Given the description of an element on the screen output the (x, y) to click on. 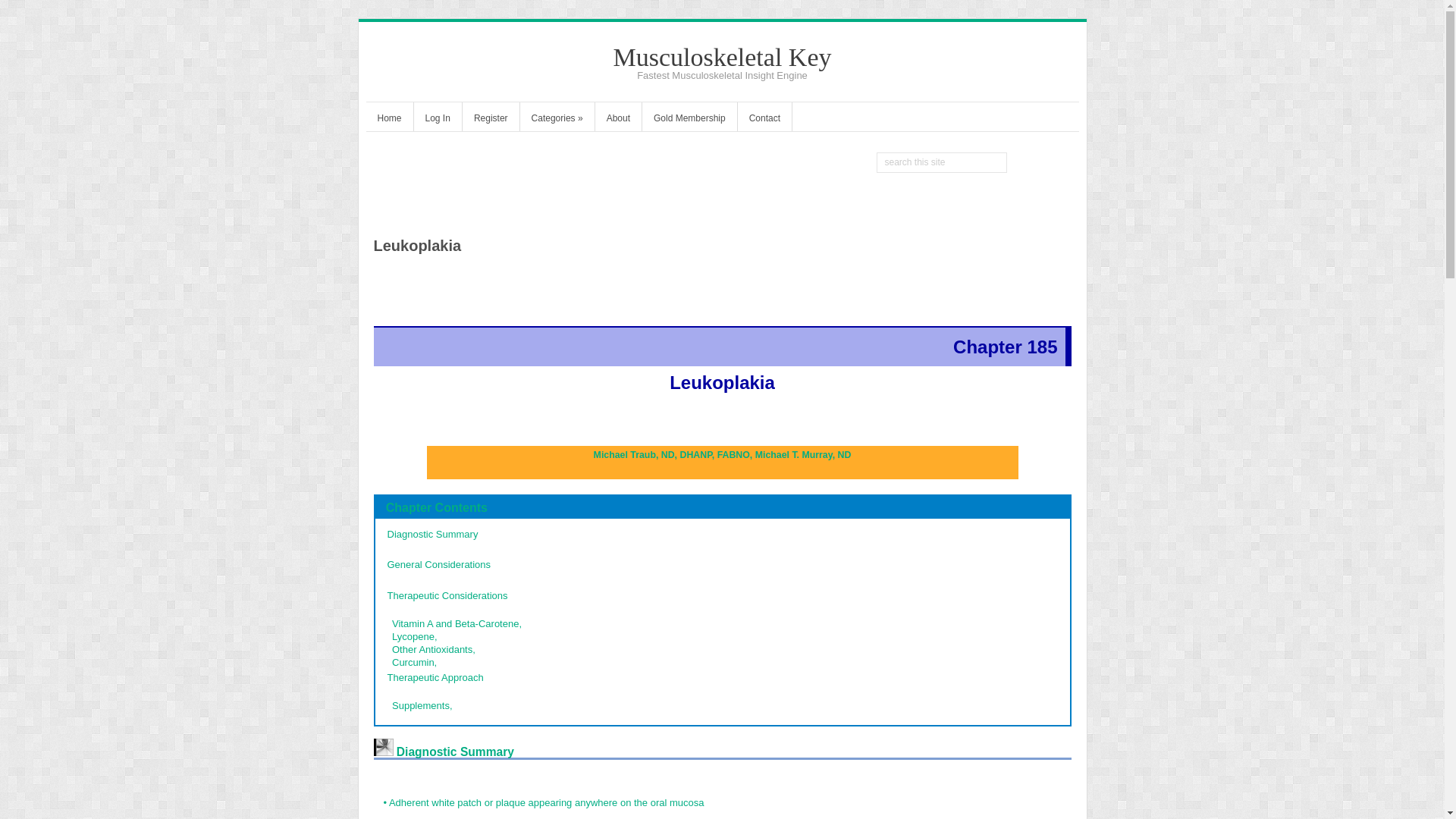
Musculoskeletal Key (721, 57)
Home (388, 119)
About (618, 119)
Gold Membership (689, 119)
Contact (765, 119)
Register (491, 119)
Michael Traub, ND, DHANP, FABNO, (674, 454)
Michael T. Murray, ND (803, 454)
Log In (437, 119)
Chapter Contents (436, 507)
Musculoskeletal Key (721, 57)
